Given the description of an element on the screen output the (x, y) to click on. 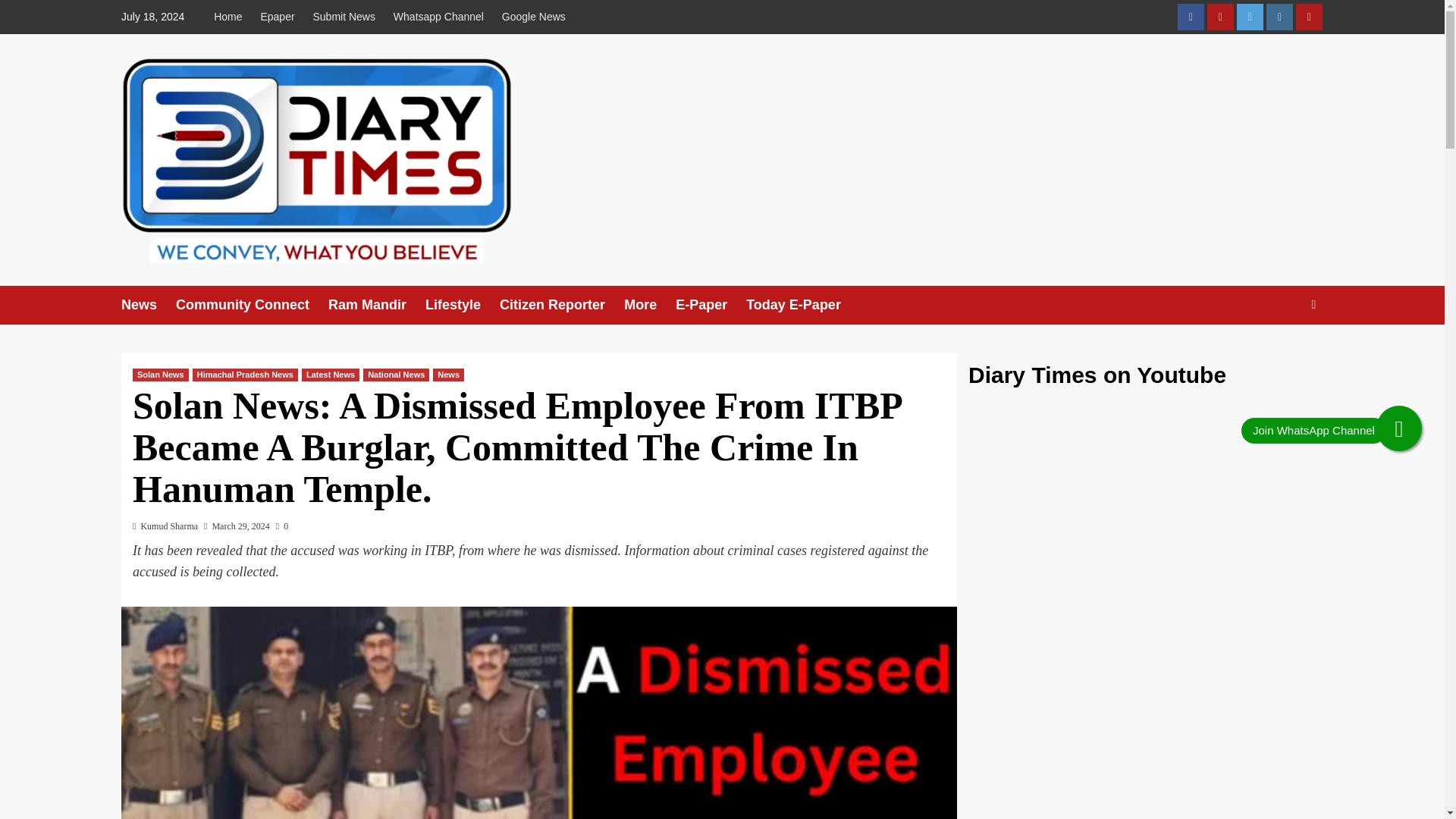
Google News (534, 17)
Citizen Reporter (561, 304)
Search (1313, 304)
Community Connect (252, 304)
Youtube (1220, 17)
Twitter (1249, 17)
Lifestyle (462, 304)
Telegram (1308, 17)
Home (231, 17)
Facebook (1190, 17)
Submit News (342, 17)
Whatsapp Channel (438, 17)
Epaper (276, 17)
News (148, 304)
Ram Mandir (377, 304)
